Given the description of an element on the screen output the (x, y) to click on. 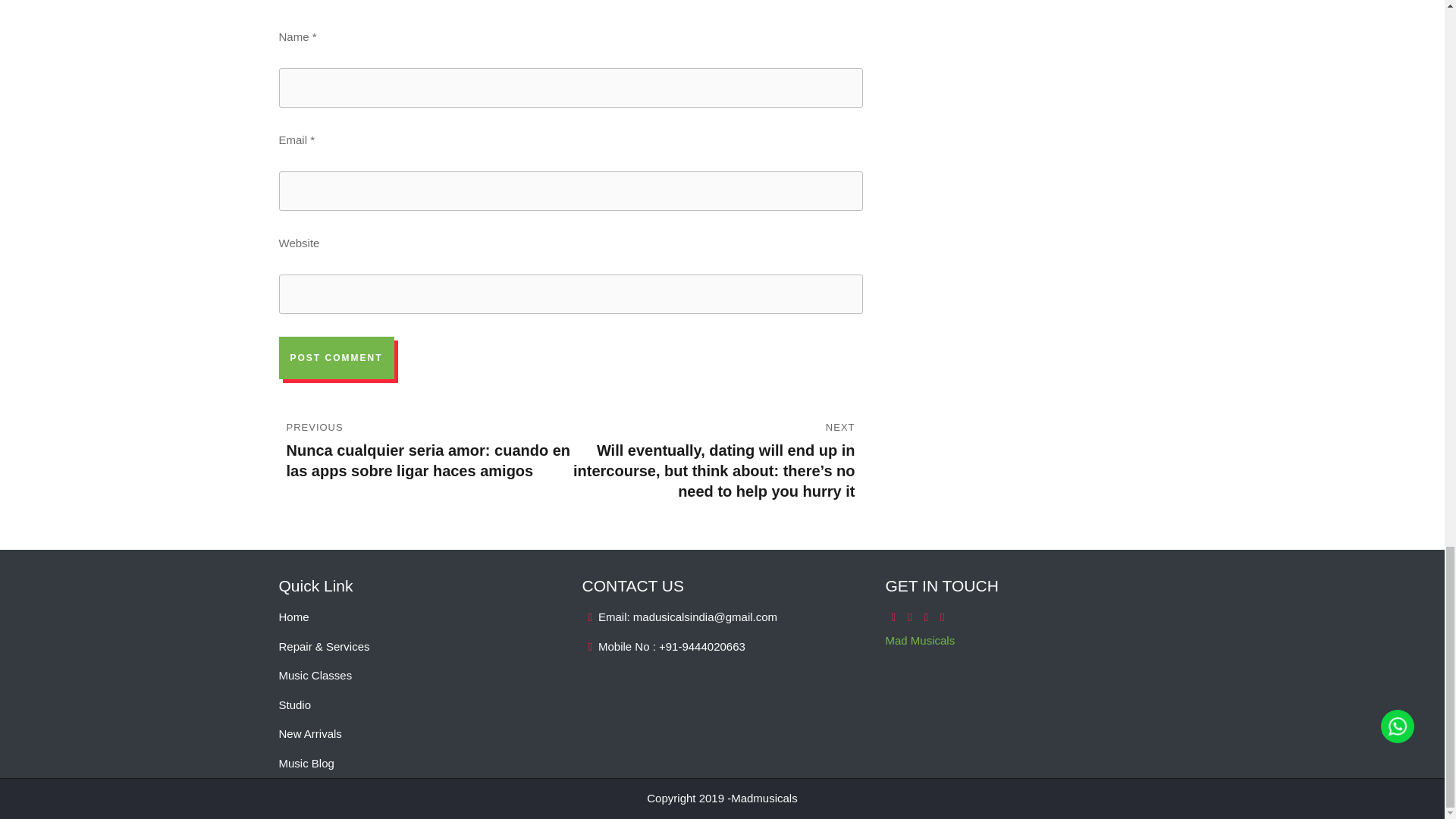
Post Comment (336, 357)
Post Comment (336, 357)
